Given the description of an element on the screen output the (x, y) to click on. 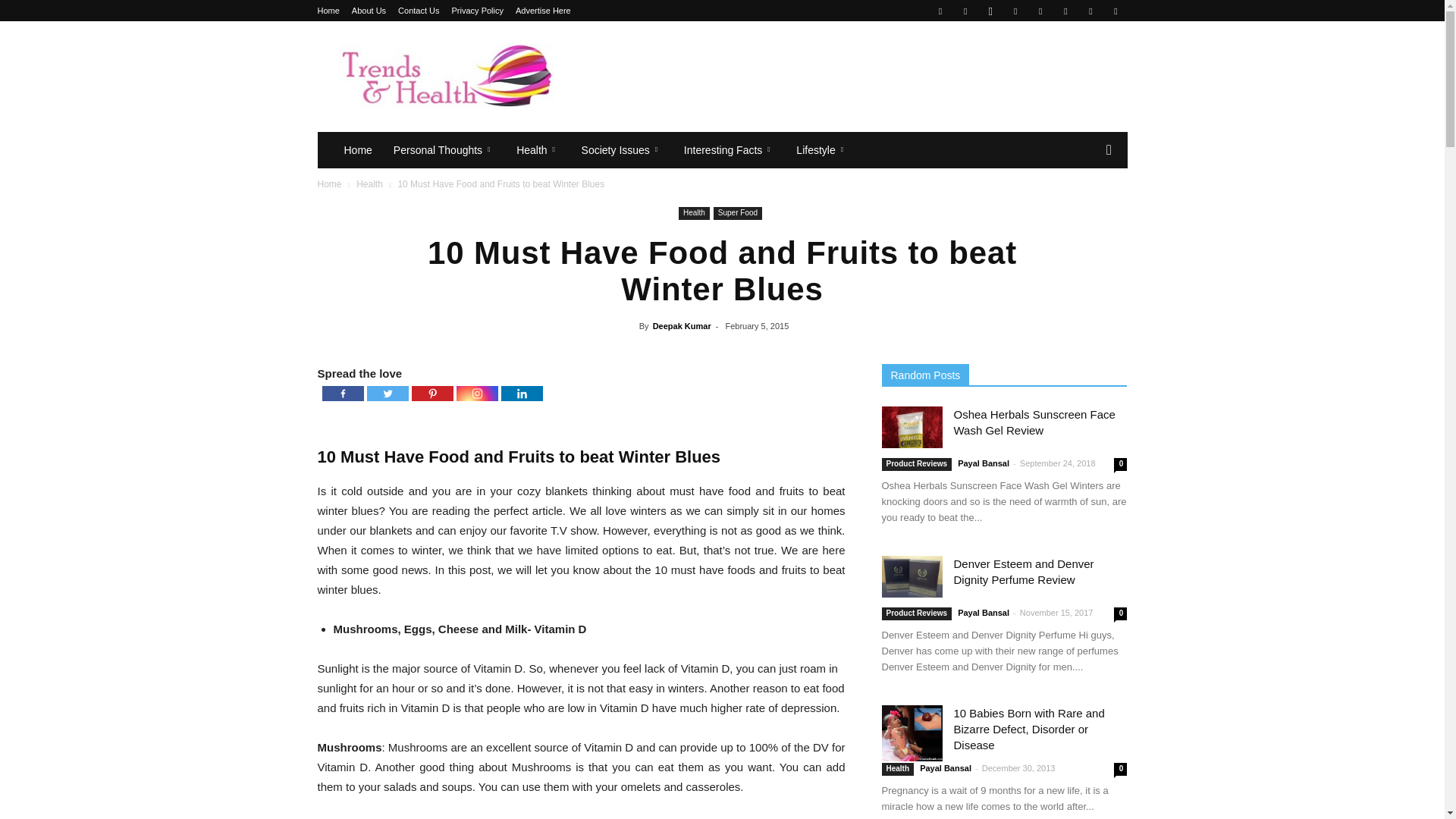
Linkedin (1015, 10)
Pinterest (1040, 10)
Facebook (940, 10)
Instagram (989, 10)
StumbleUpon (1090, 10)
Reddit (1065, 10)
